Given the description of an element on the screen output the (x, y) to click on. 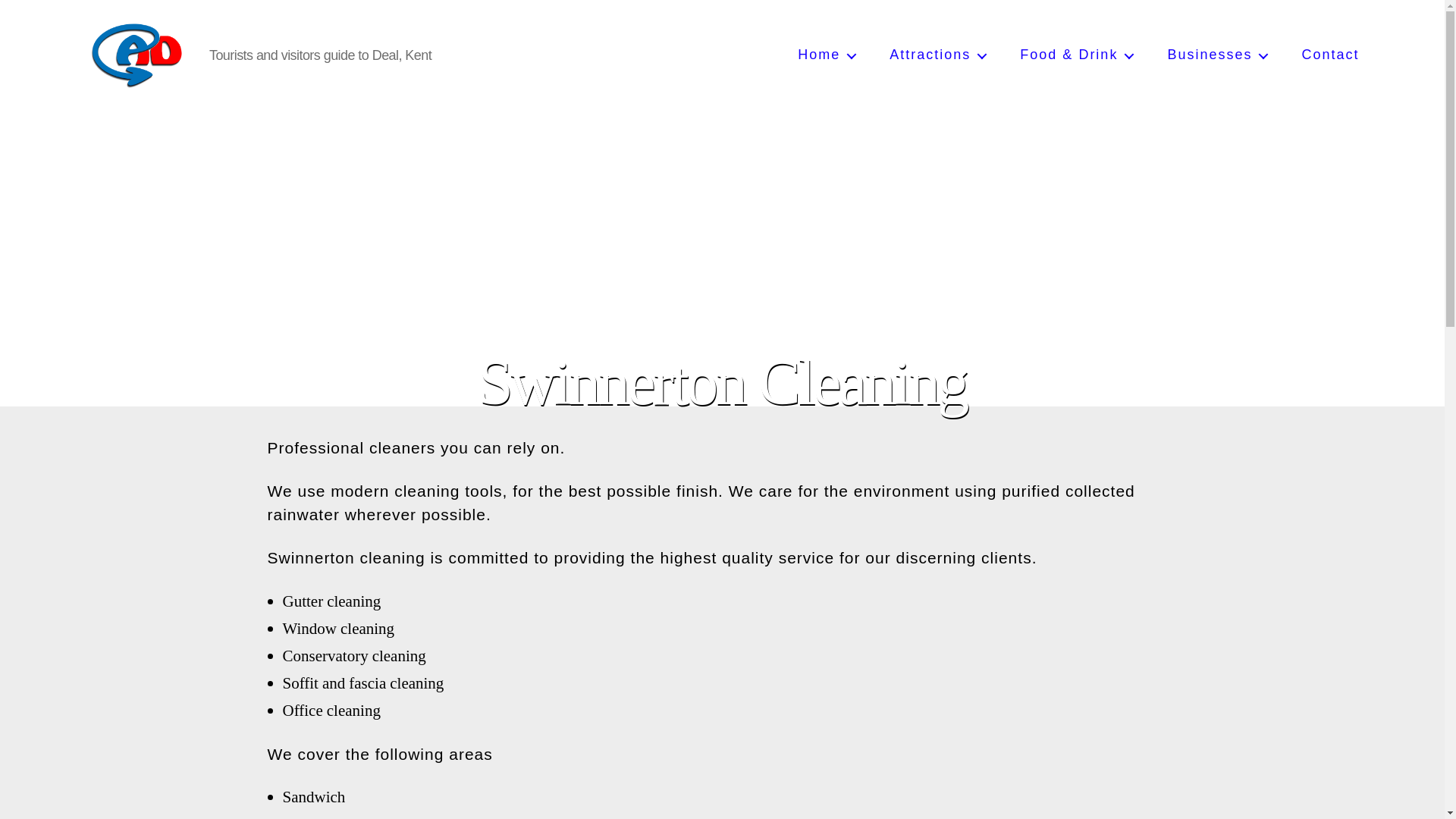
Businesses (1208, 55)
Attractions (930, 55)
Contact (1321, 55)
Home (819, 55)
